Given the description of an element on the screen output the (x, y) to click on. 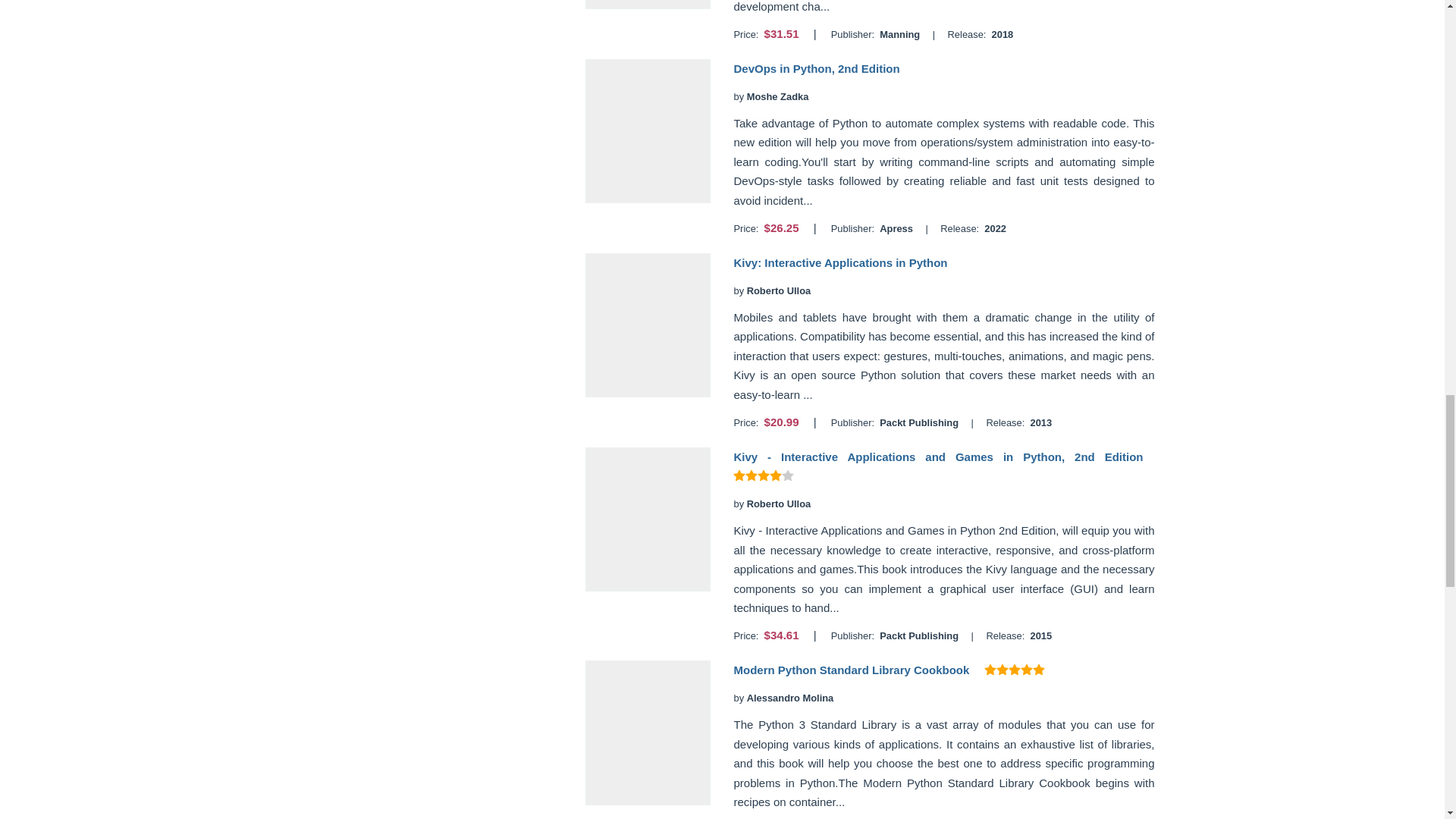
Kivy: Interactive Applications in Python (840, 262)
Modern Python Standard Library Cookbook (851, 669)
DevOps in Python, 2nd Edition (816, 68)
